Given the description of an element on the screen output the (x, y) to click on. 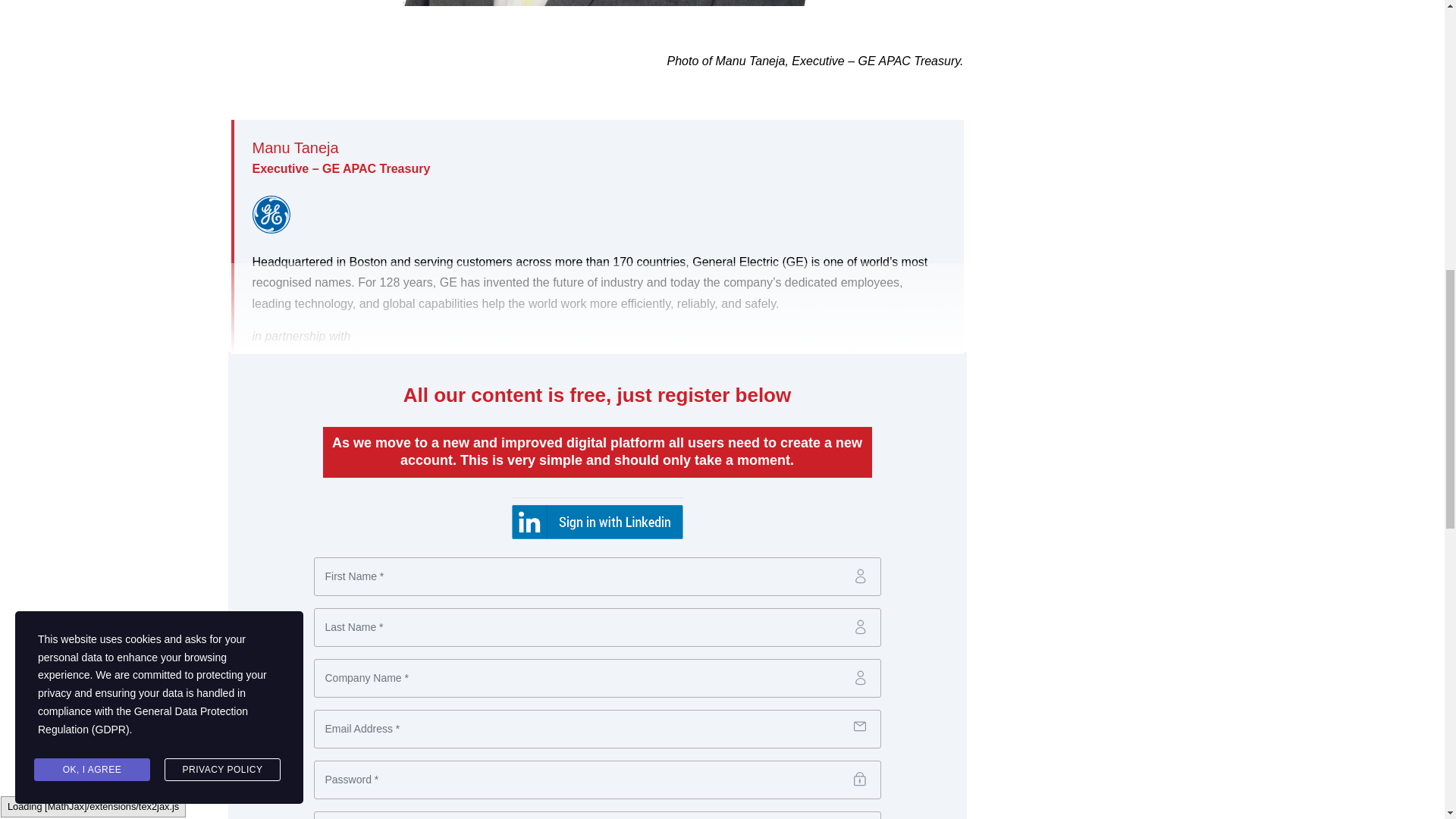
3rd party ad content (1097, 398)
